Given the description of an element on the screen output the (x, y) to click on. 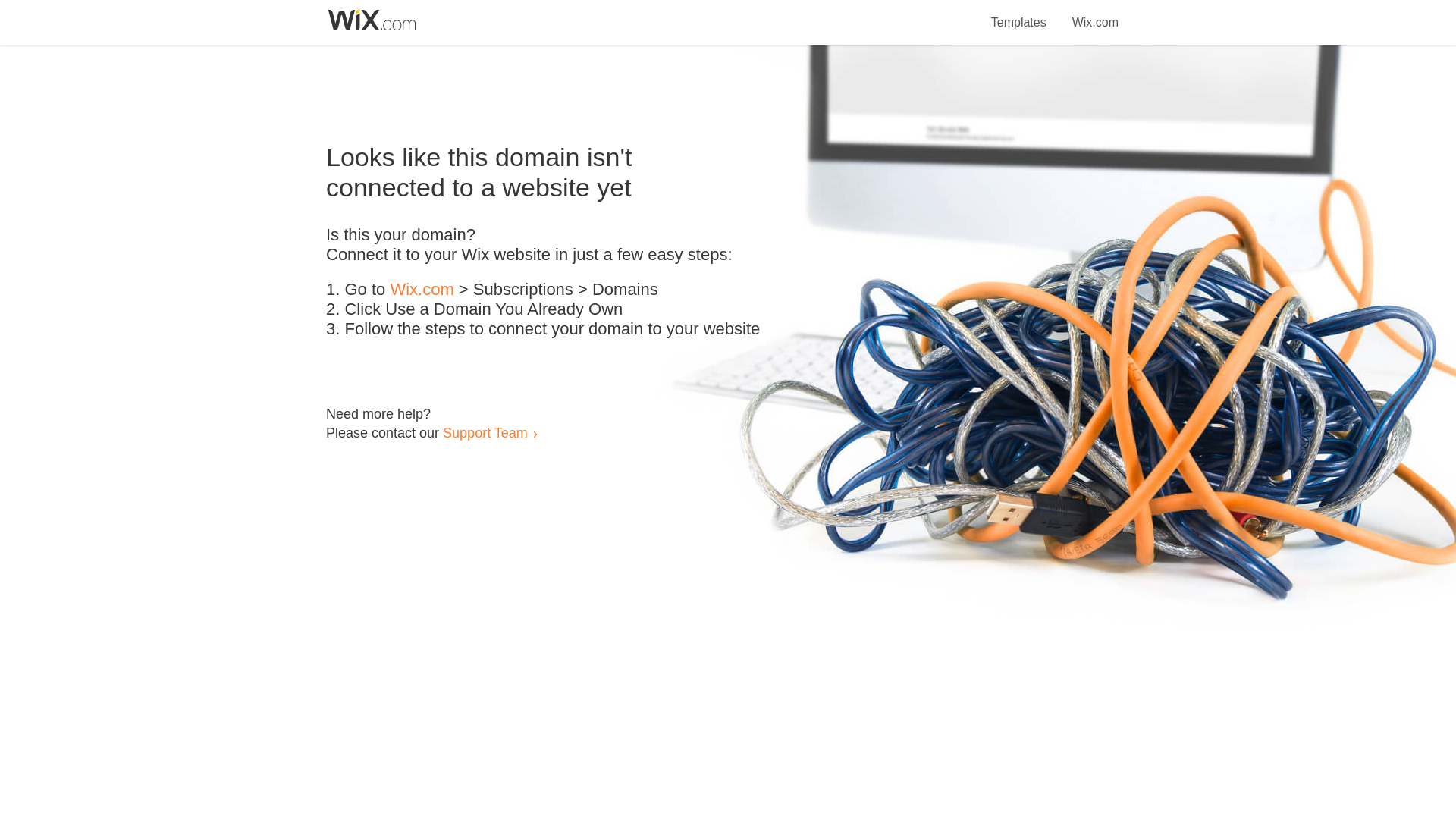
Wix.com (1095, 14)
Support Team (484, 432)
Templates (1018, 14)
Wix.com (421, 289)
